Given the description of an element on the screen output the (x, y) to click on. 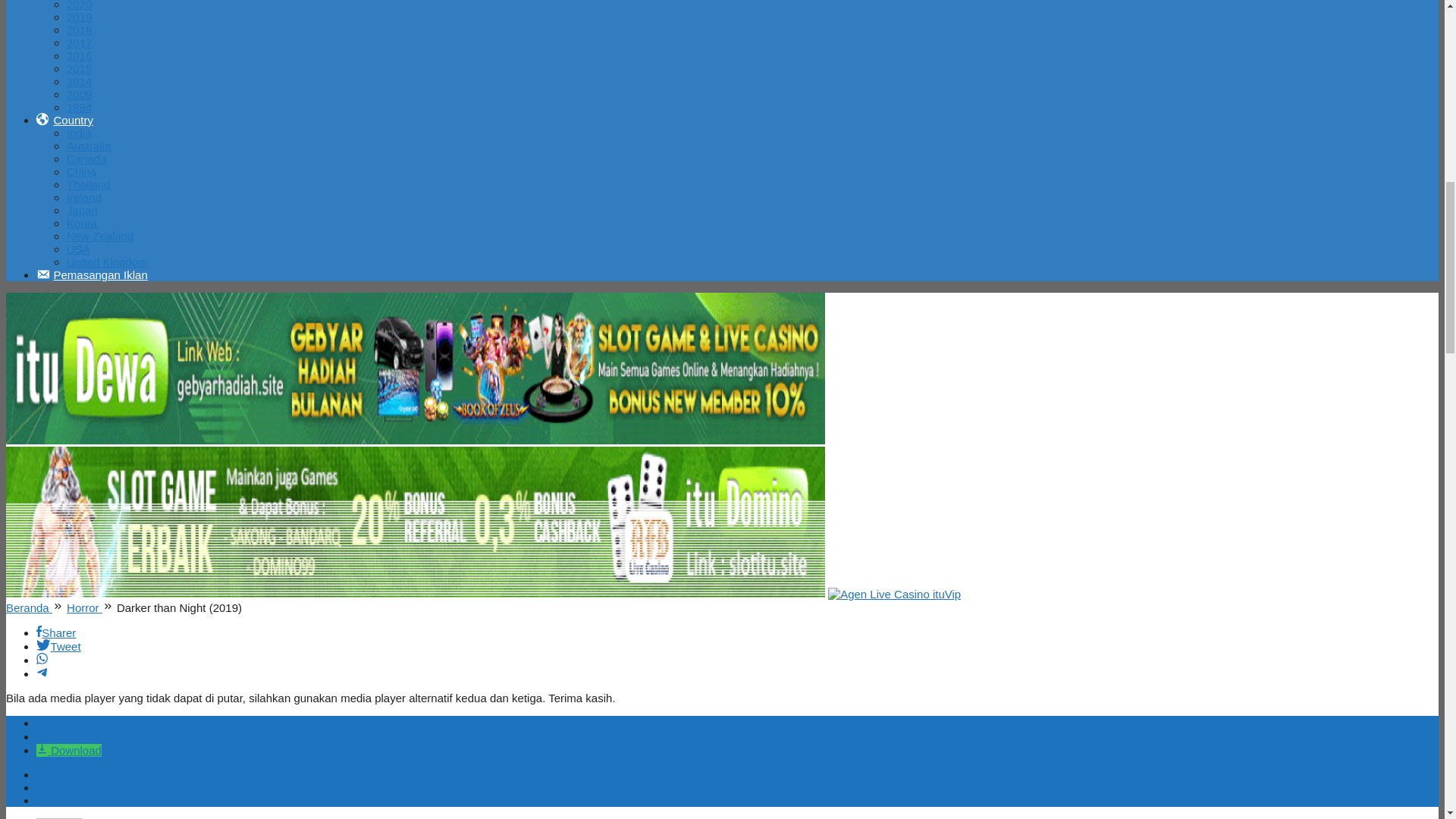
2014 (78, 81)
2018 (78, 29)
2019 (78, 16)
2016 (78, 55)
2009 (78, 93)
2015 (78, 68)
2020 (78, 5)
2017 (78, 42)
